Given the description of an element on the screen output the (x, y) to click on. 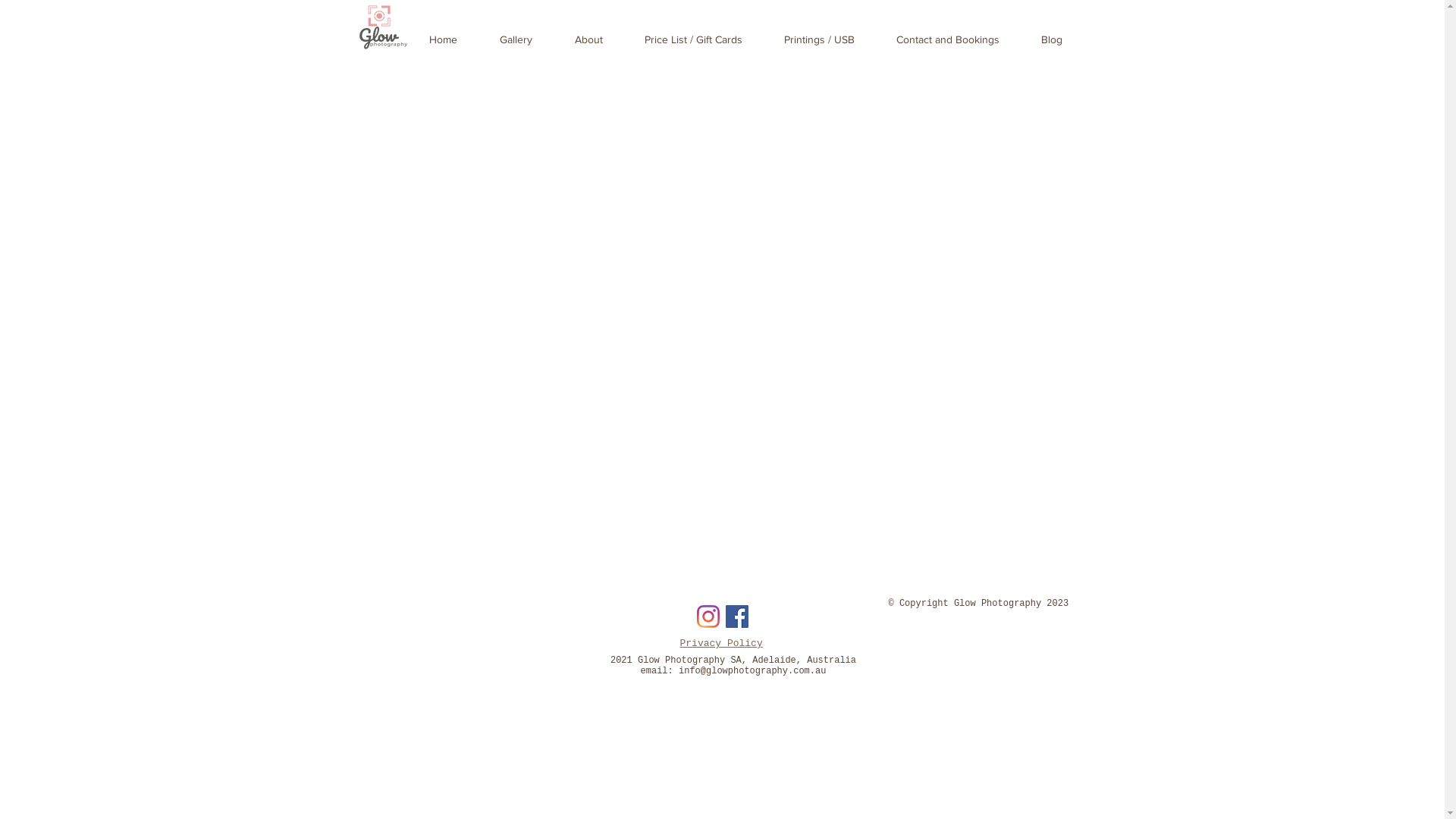
Printings / USB Element type: text (818, 39)
Privacy Policy Element type: text (720, 643)
Gallery Element type: text (514, 39)
info@glowphotography.com.au Element type: text (751, 670)
Home Element type: text (442, 39)
Price List / Gift Cards Element type: text (692, 39)
Glow Photography Logo tm Element type: hover (382, 27)
About Element type: text (588, 39)
Blog Element type: text (1051, 39)
Contact and Bookings Element type: text (947, 39)
